Given the description of an element on the screen output the (x, y) to click on. 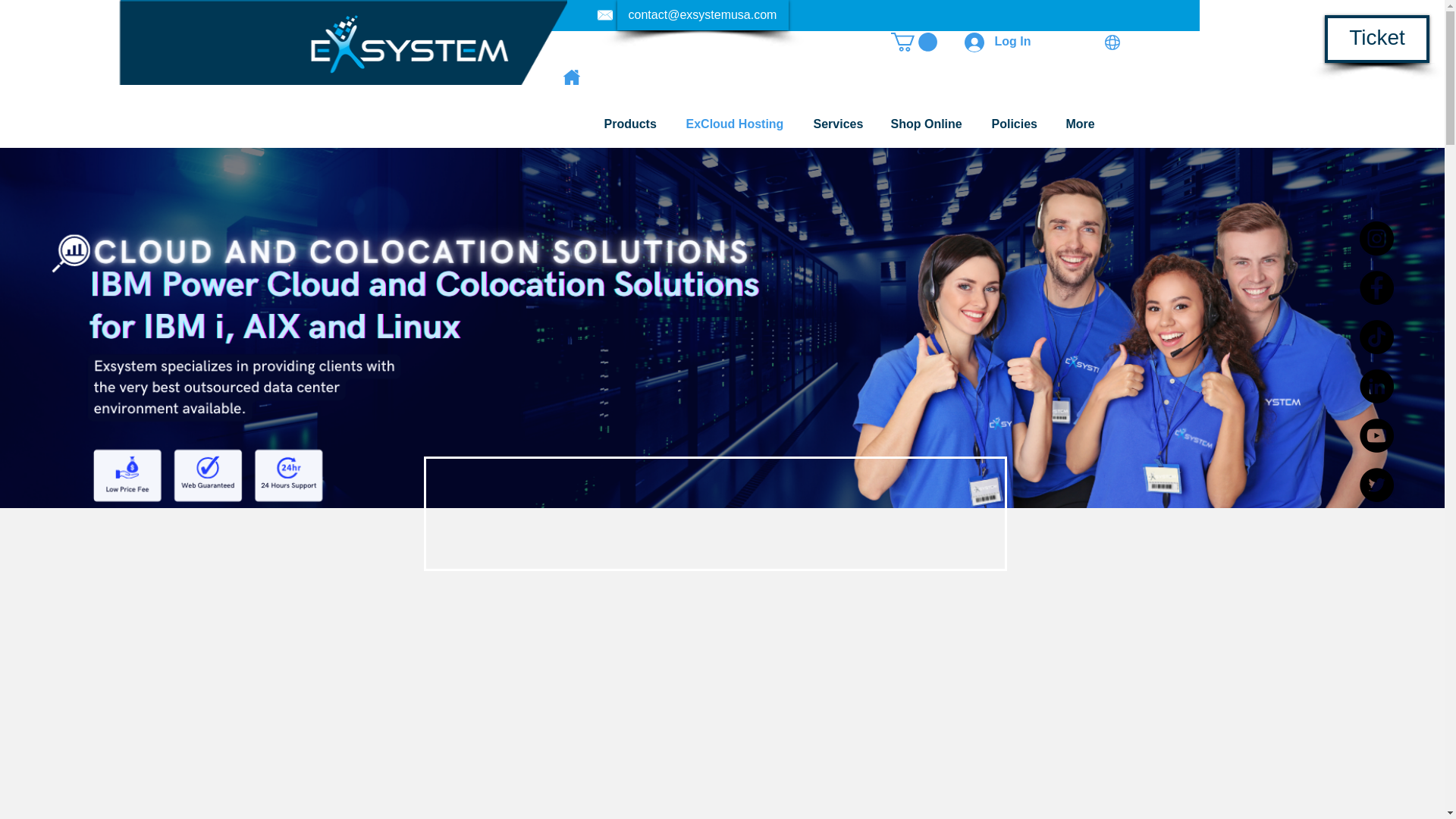
Shop Online (929, 124)
Log In (997, 41)
Services (840, 124)
ExCloud Hosting (738, 124)
Products (633, 124)
Ticket (1376, 39)
Policies (1016, 124)
